Given the description of an element on the screen output the (x, y) to click on. 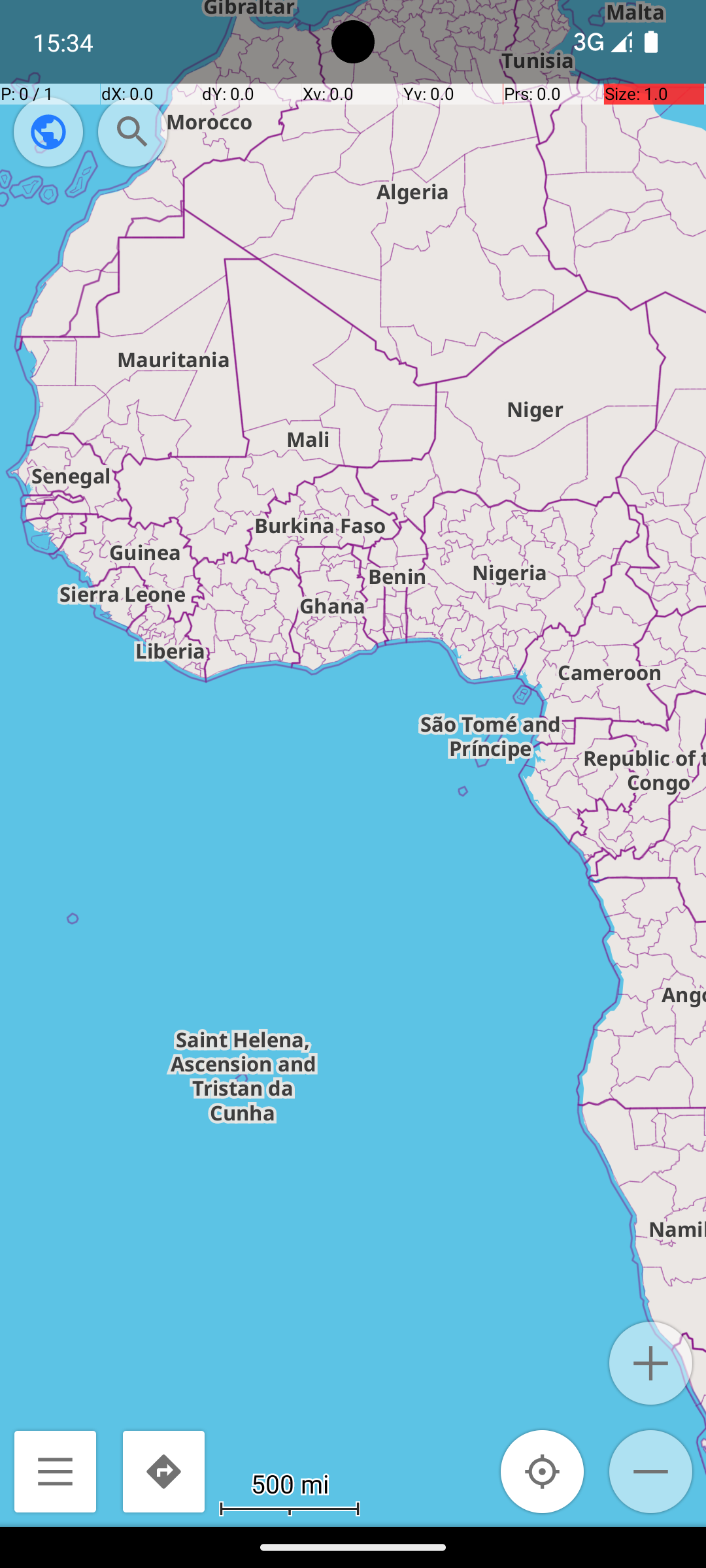
Map Element type: android.view.View (353, 763)
Configure map Element type: android.widget.ImageButton (48, 131)
Back to menu Element type: android.widget.ImageButton (55, 1471)
Route Element type: android.widget.ImageButton (163, 1471)
500 mi Element type: android.widget.TextView (289, 1483)
Position not yet known. Element type: android.widget.ImageButton (542, 1471)
Zoom in Element type: android.widget.ImageButton (650, 1362)
Zoom out Element type: android.widget.ImageButton (650, 1471)
